Given the description of an element on the screen output the (x, y) to click on. 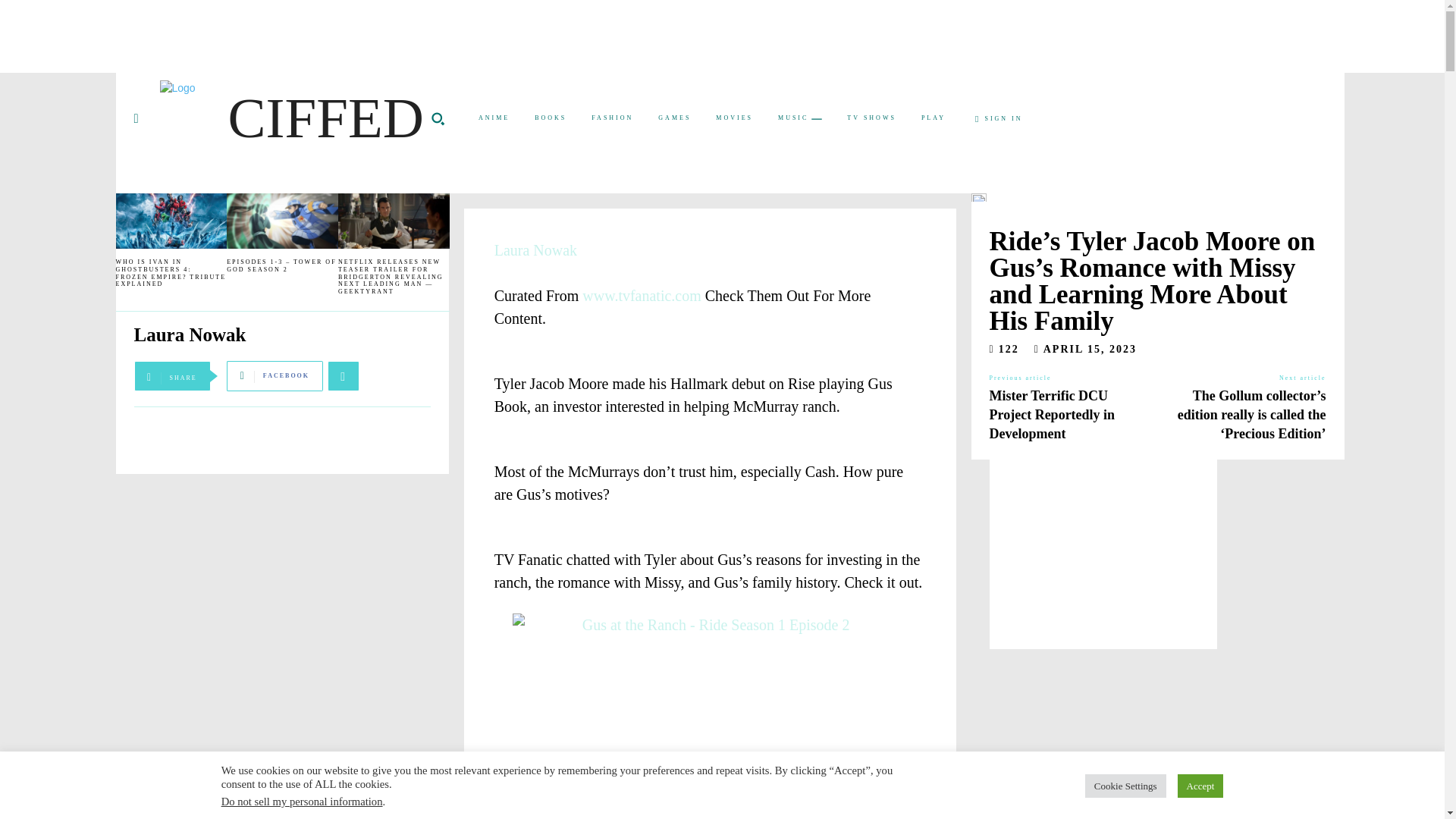
BOOKS (550, 117)
PLAY (933, 117)
SIGN IN (999, 118)
FASHION (611, 117)
ANIME (493, 117)
MUSIC (799, 118)
GAMES (674, 117)
CIFFED (290, 118)
TV SHOWS (871, 117)
MOVIES (733, 117)
